Given the description of an element on the screen output the (x, y) to click on. 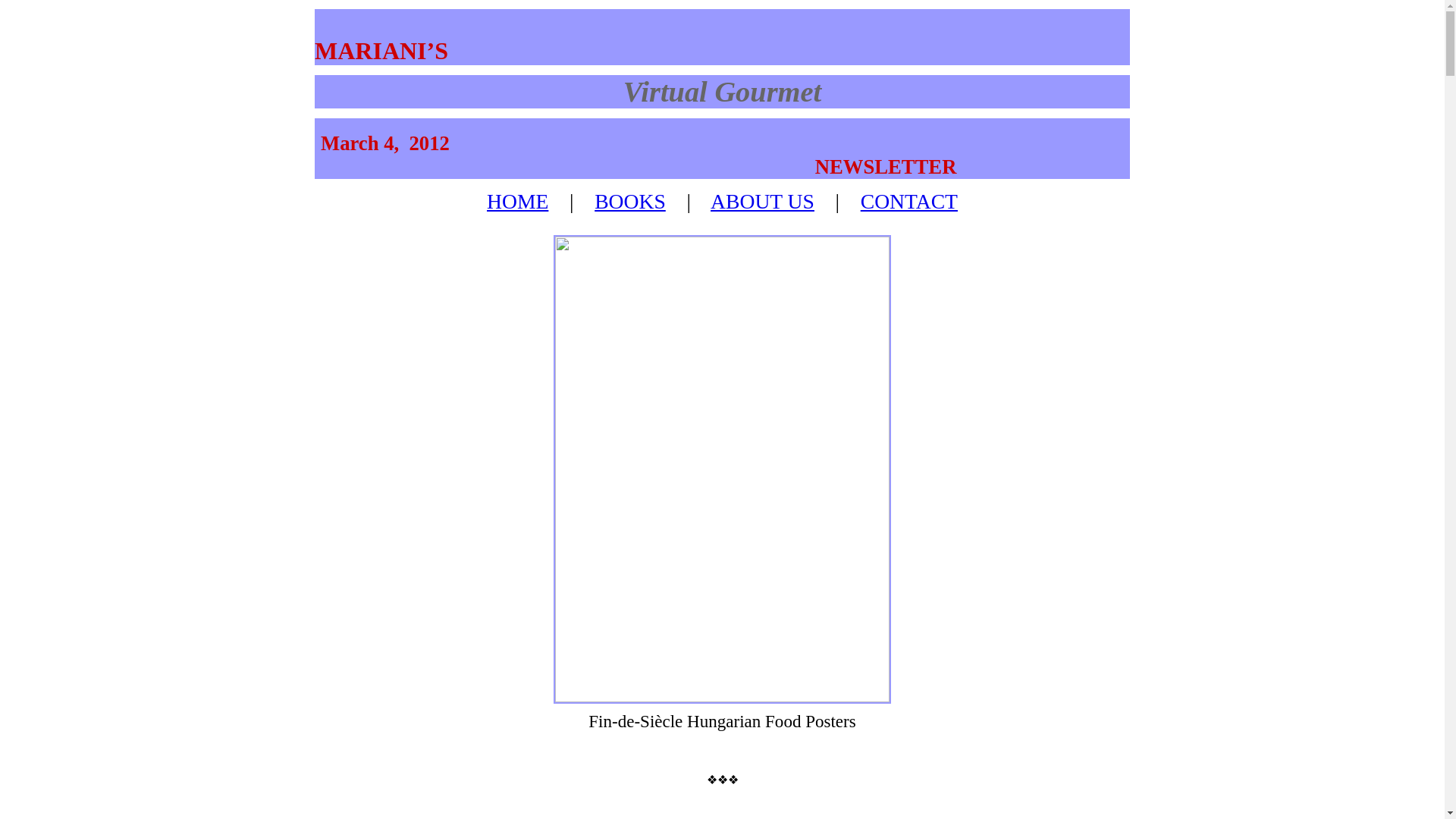
BOOKS (629, 200)
CONTACT (909, 200)
HOME (517, 200)
ABOUT US (761, 200)
